Given the description of an element on the screen output the (x, y) to click on. 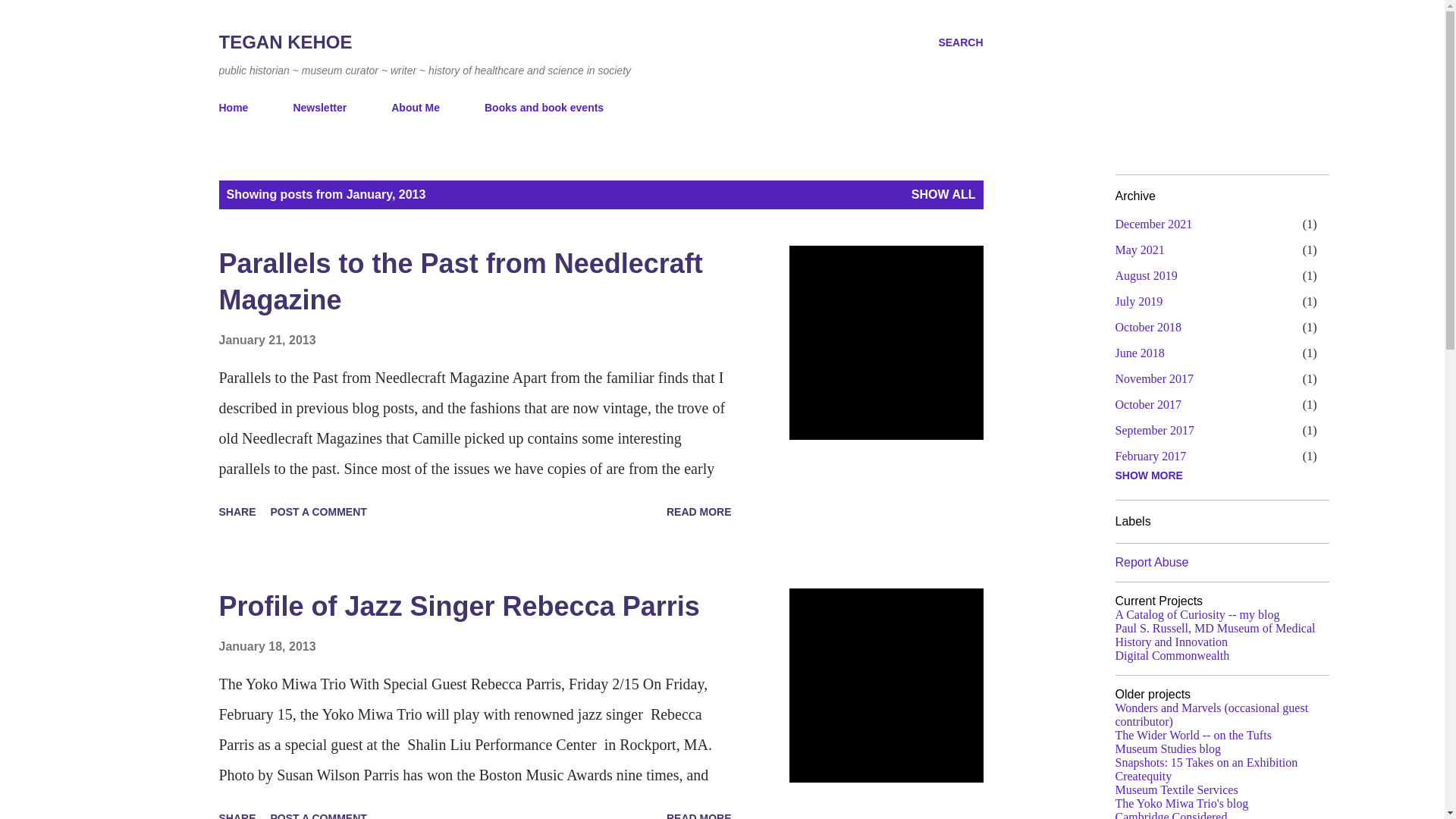
Books and book events (544, 107)
Parallels to the Past from Needlecraft Magazine (459, 281)
January 18, 2013 (266, 645)
TEGAN KEHOE (285, 41)
Home (237, 107)
READ MORE (699, 511)
Newsletter (319, 107)
SEARCH (959, 42)
About Me (414, 107)
POST A COMMENT (318, 511)
